Given the description of an element on the screen output the (x, y) to click on. 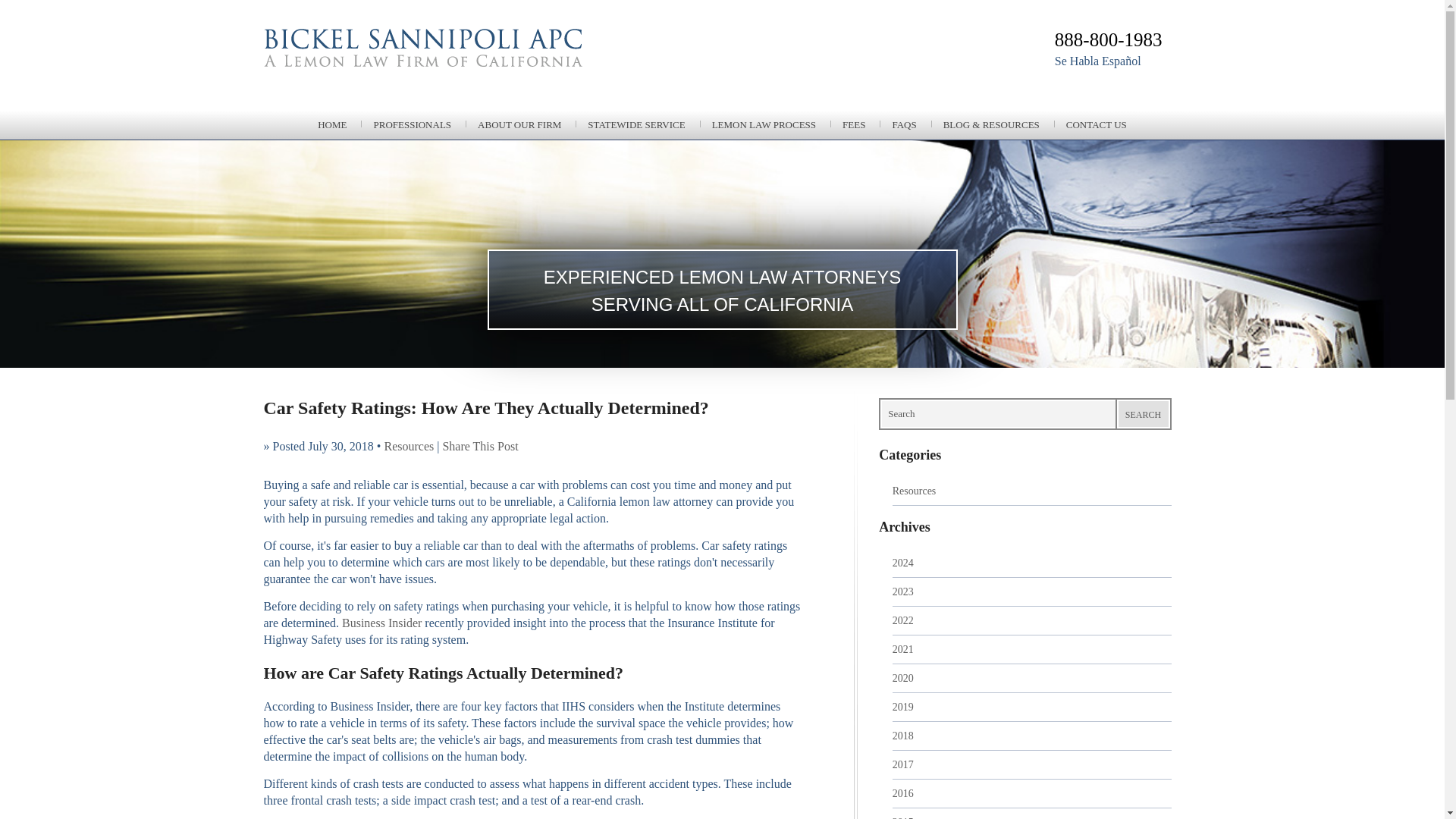
PROFESSIONALS (412, 124)
888-800-1983 (1107, 40)
The Bickel Law Firm (487, 66)
HOME (331, 124)
